Given the description of an element on the screen output the (x, y) to click on. 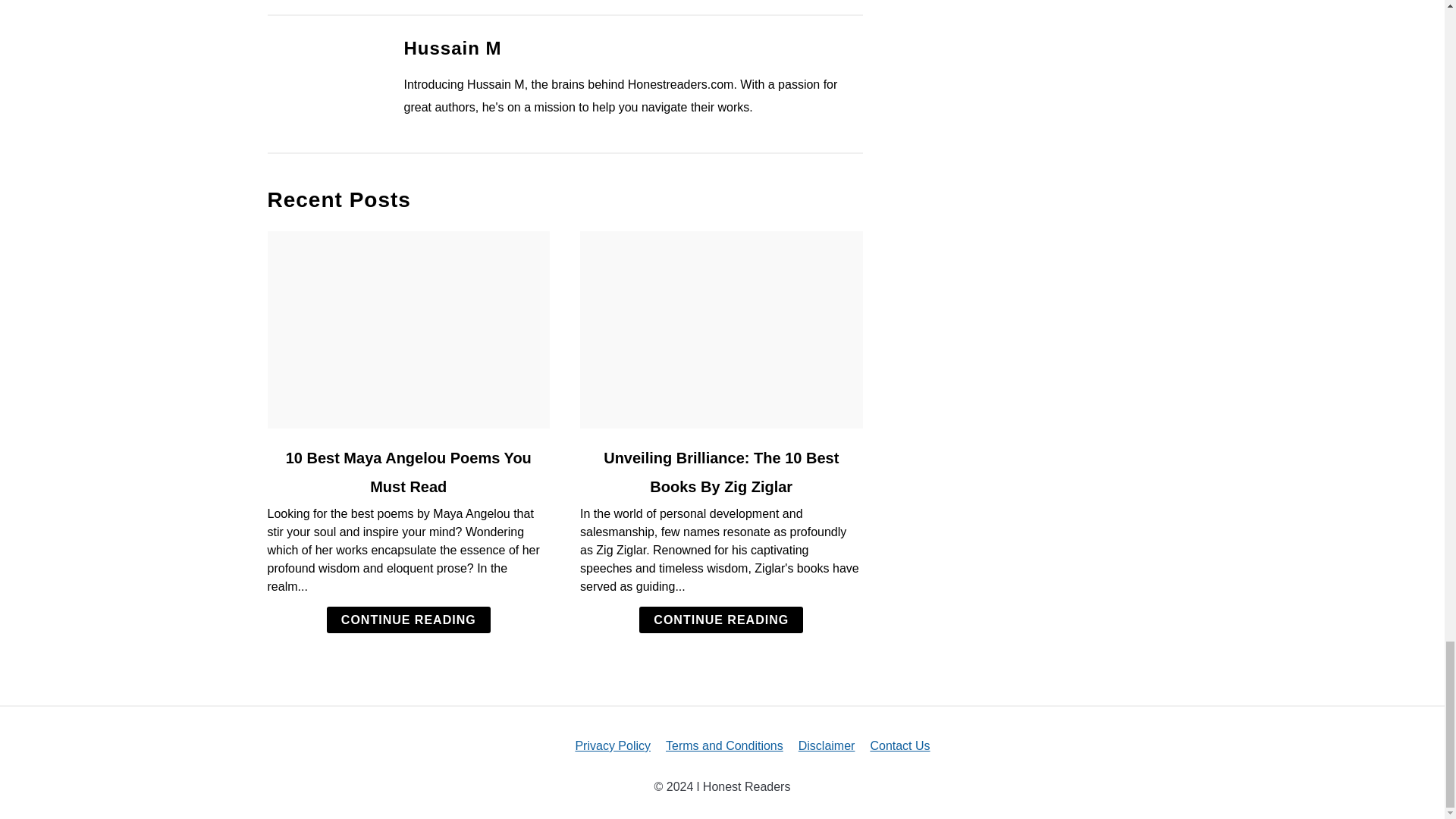
link to 10 Best Maya Angelou Poems You Must Read (408, 329)
Hussain M (451, 47)
10 Best Maya Angelou Poems You Must Read (408, 472)
